Given the description of an element on the screen output the (x, y) to click on. 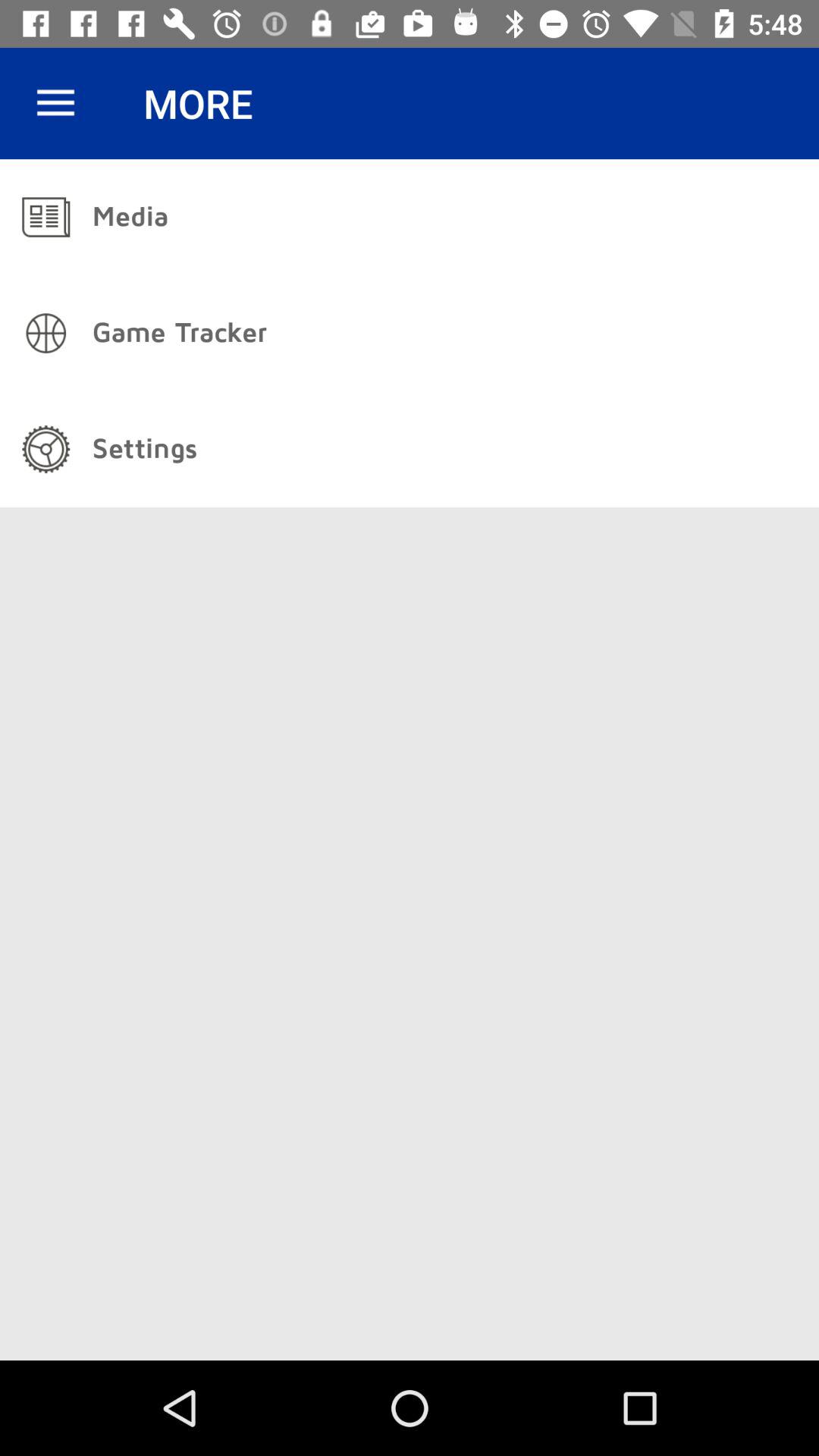
click item to the left of the more (55, 103)
